Given the description of an element on the screen output the (x, y) to click on. 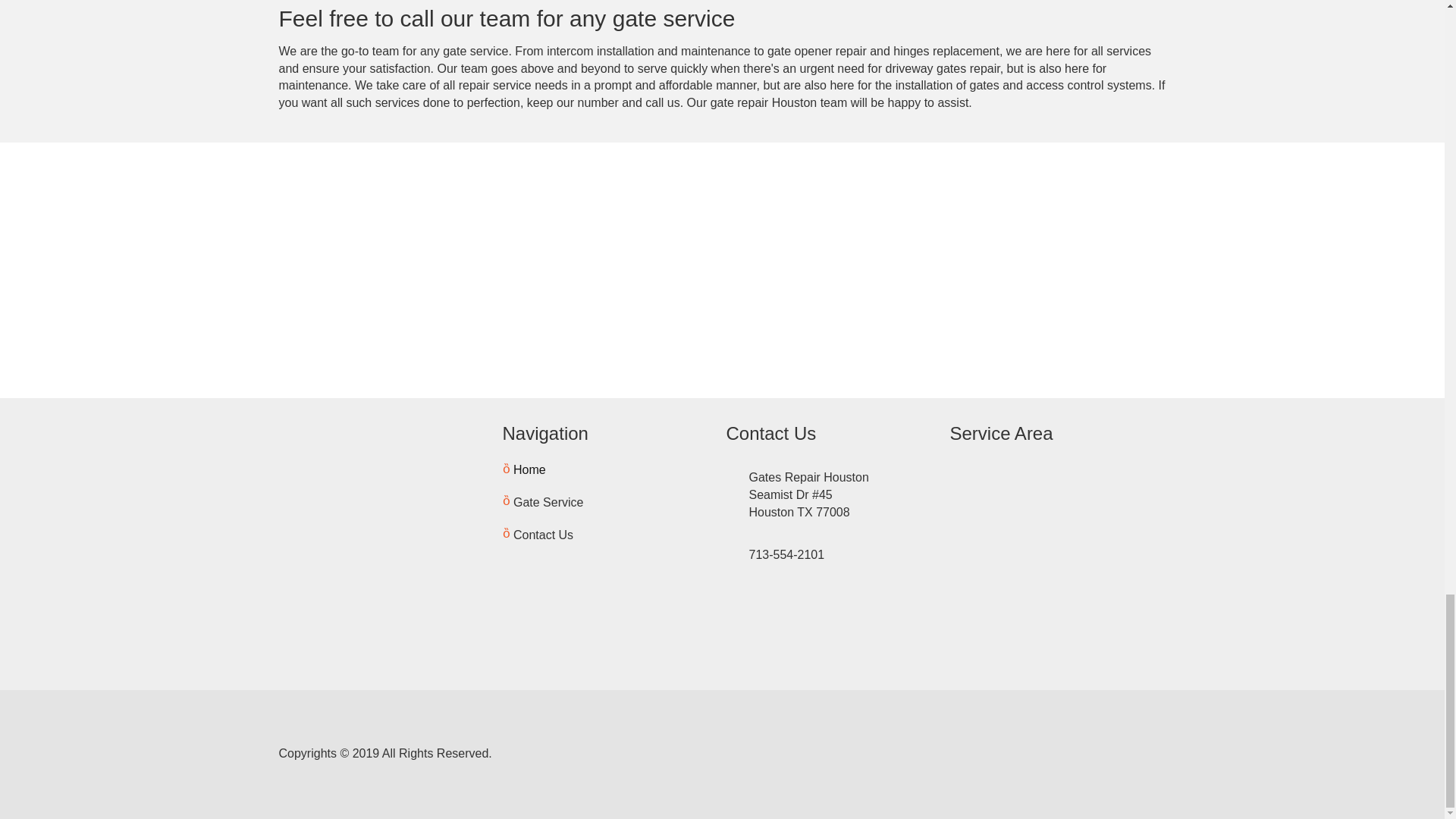
Contact Us (537, 535)
Gate Service (542, 502)
Home (523, 470)
